Given the description of an element on the screen output the (x, y) to click on. 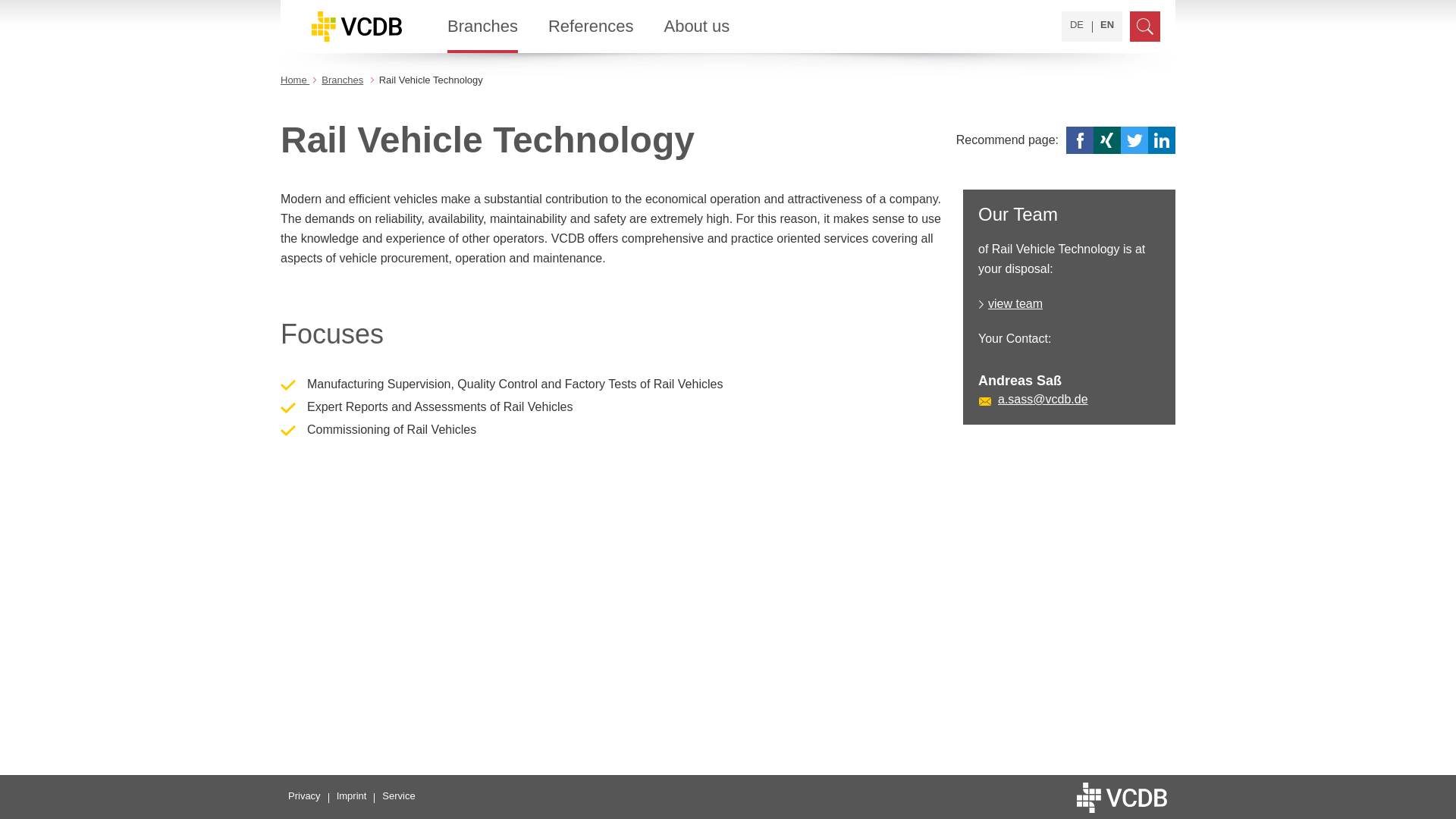
Share on Facebook (1079, 139)
Facebook (1079, 139)
Branches (341, 79)
VerkehrsConsult Dresden Berlin (356, 27)
LinkedIn (1161, 139)
Share on XING (1107, 139)
DE (1076, 24)
References (590, 26)
Search (1144, 26)
view team (1015, 303)
Share on LinkedIn (1161, 139)
view team (1015, 303)
XING (1107, 139)
Home (294, 79)
Deutsch (1076, 24)
